Given the description of an element on the screen output the (x, y) to click on. 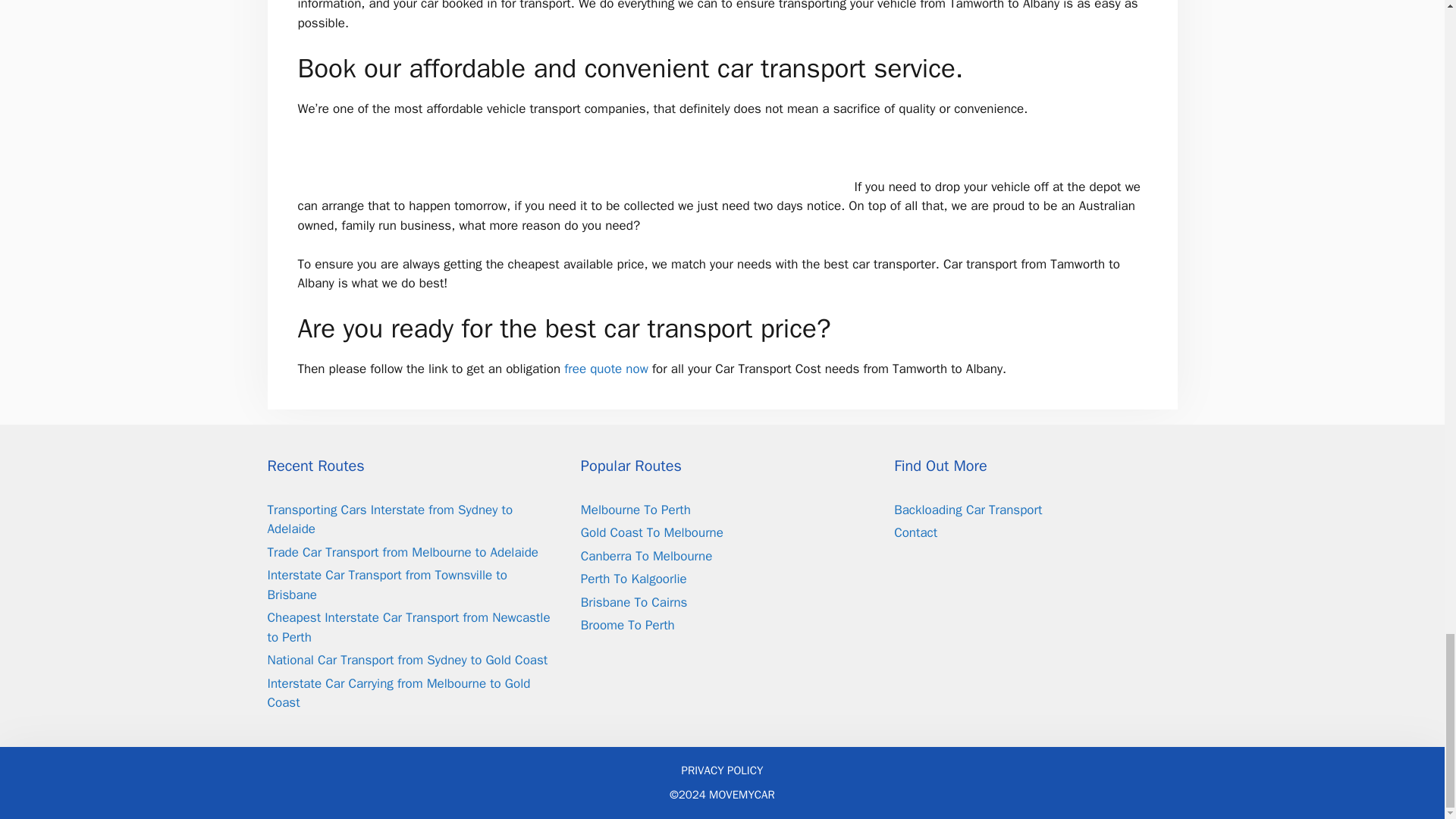
National Car Transport from Sydney to Gold Coast (406, 659)
Perth To Kalgoorlie (633, 578)
Transporting Cars Interstate from Sydney to Adelaide (389, 519)
Brisbane To Cairns (633, 602)
Interstate Car Carrying from Melbourne to Gold Coast (397, 693)
PRIVACY POLICY (721, 770)
Melbourne To Perth (635, 509)
Cheapest Interstate Car Transport from Newcastle to Perth (408, 627)
Backloading Car Transport (967, 509)
Canberra To Melbourne (645, 555)
